Given the description of an element on the screen output the (x, y) to click on. 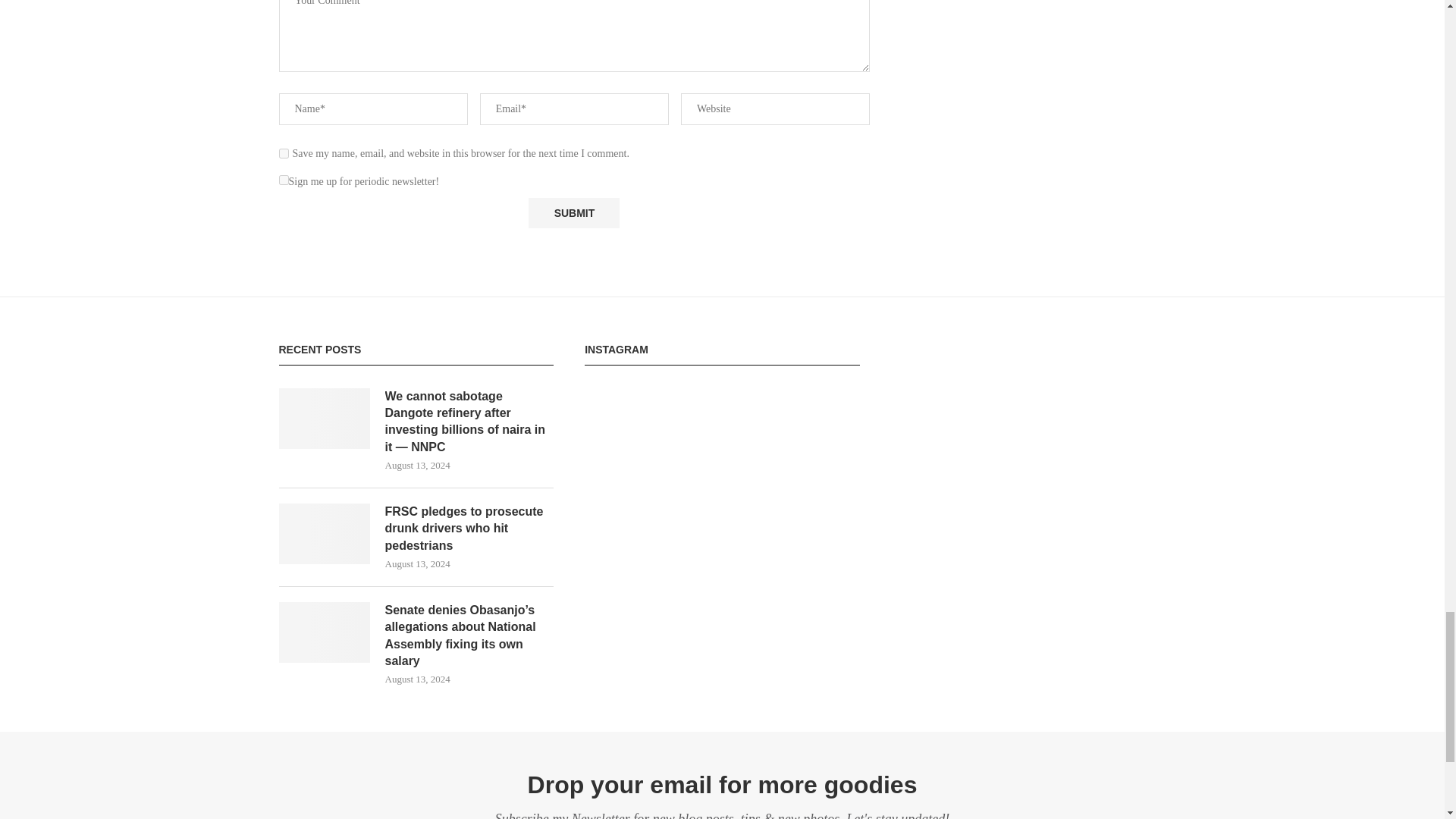
Submit (574, 213)
1 (283, 180)
yes (283, 153)
